Given the description of an element on the screen output the (x, y) to click on. 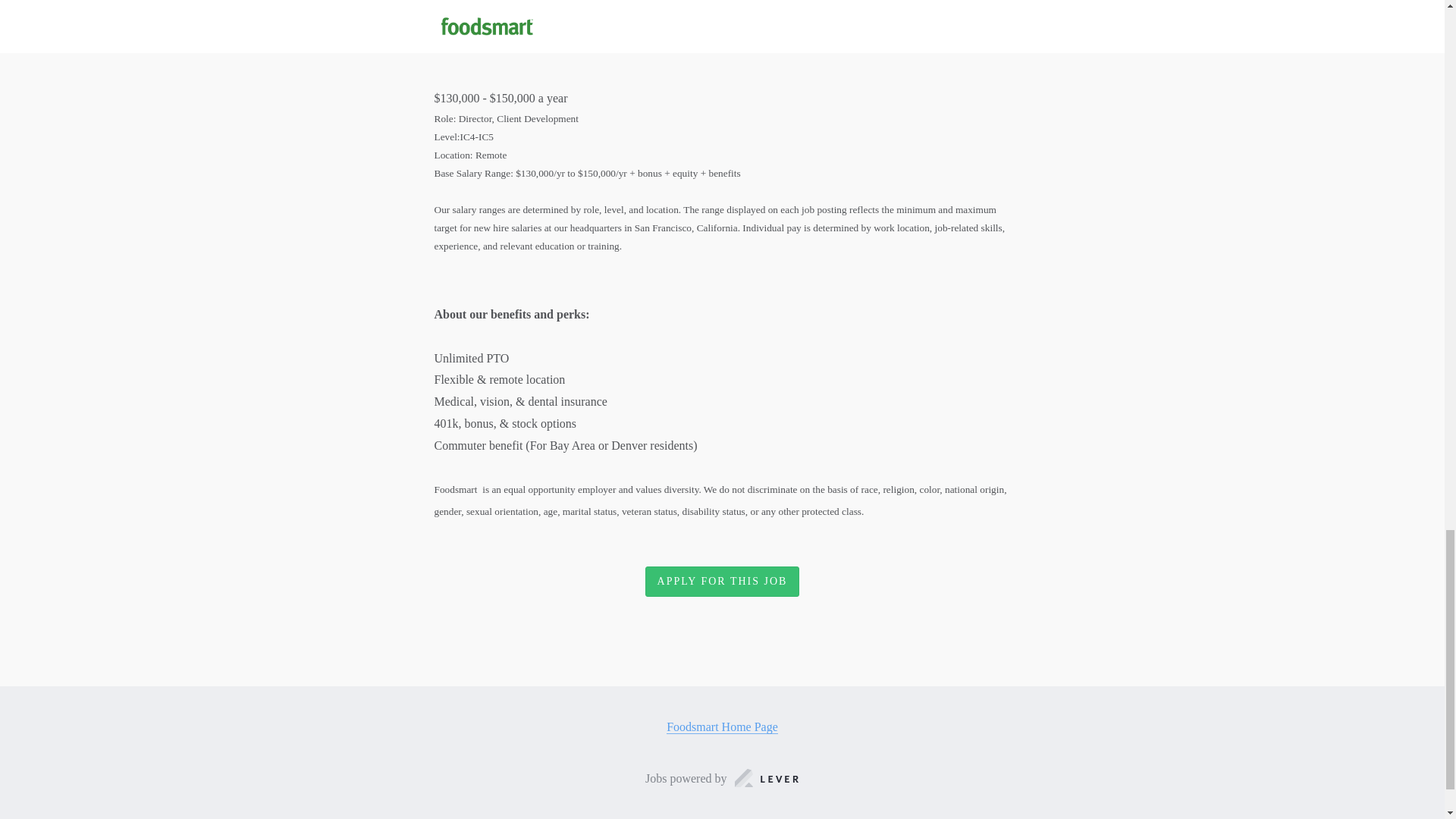
Jobs powered by (722, 779)
Foodsmart Home Page (721, 726)
APPLY FOR THIS JOB (722, 581)
